Given the description of an element on the screen output the (x, y) to click on. 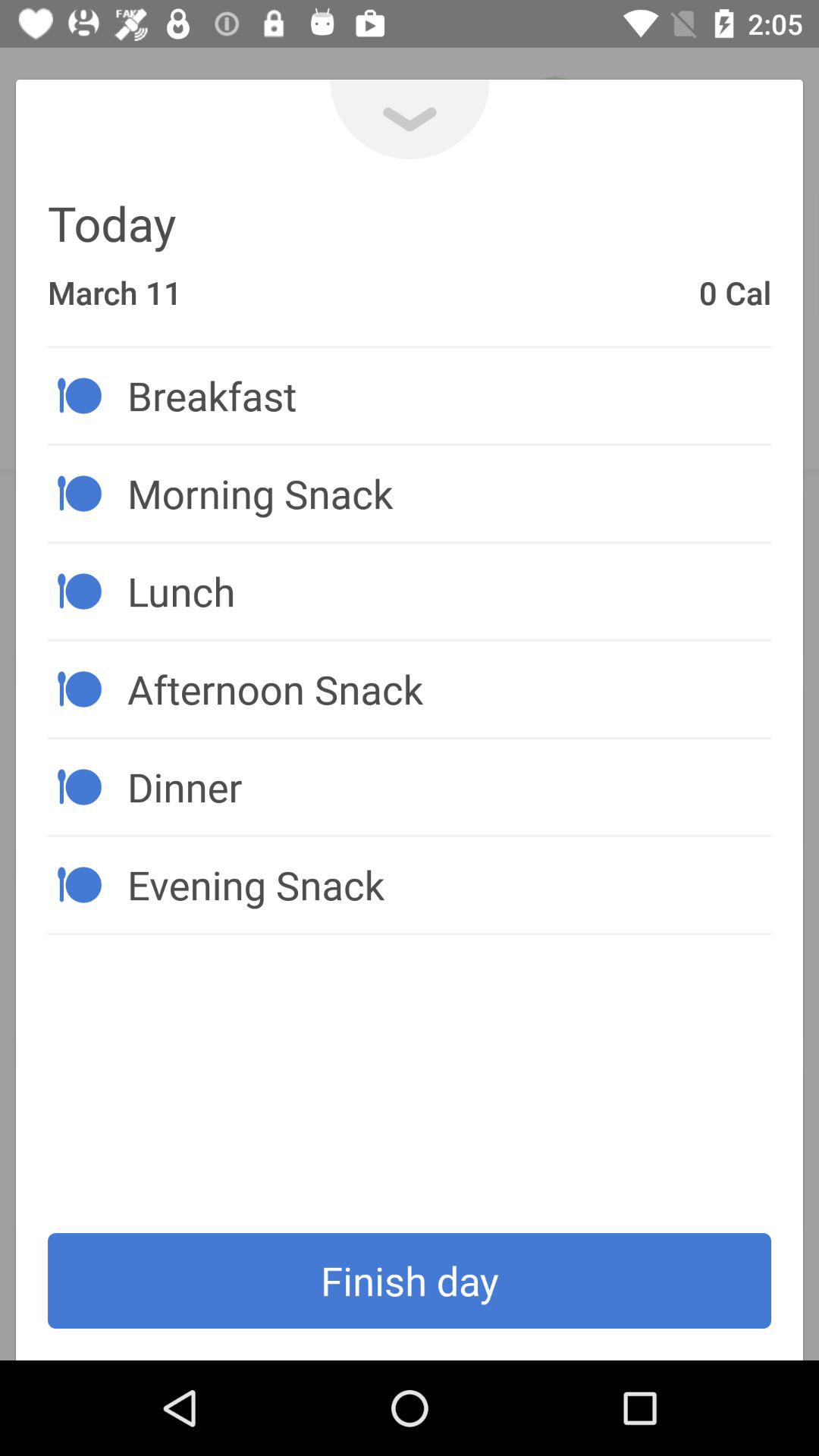
open the icon above the 0 cal item (409, 119)
